Given the description of an element on the screen output the (x, y) to click on. 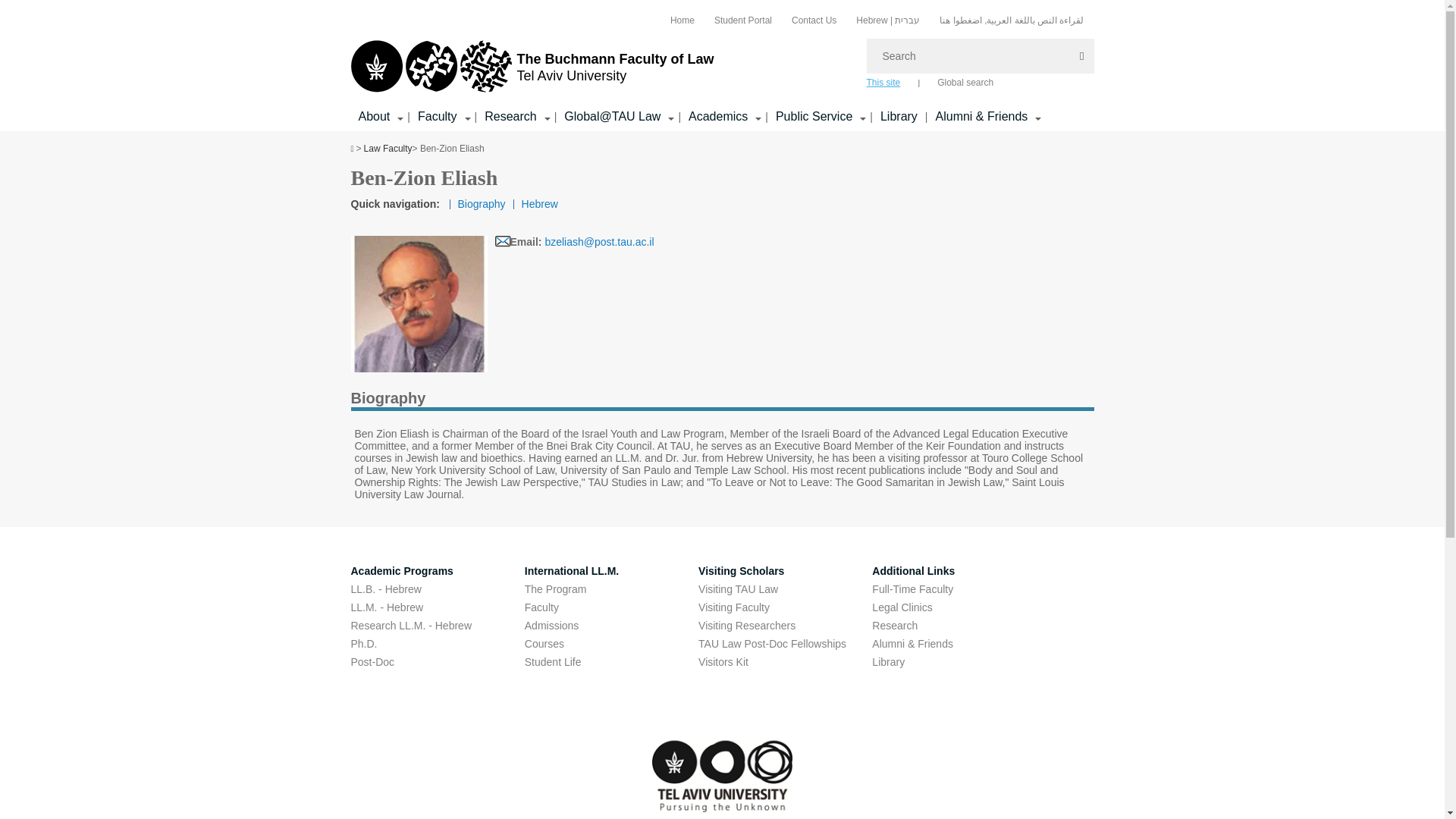
About (374, 116)
Home (681, 20)
Student Portal open in new window (742, 20)
Home (681, 20)
Go to homepage (531, 66)
Faculty (437, 116)
Contact Us (813, 20)
Research (509, 116)
Contact Us (813, 20)
Student Portal (742, 20)
